Given the description of an element on the screen output the (x, y) to click on. 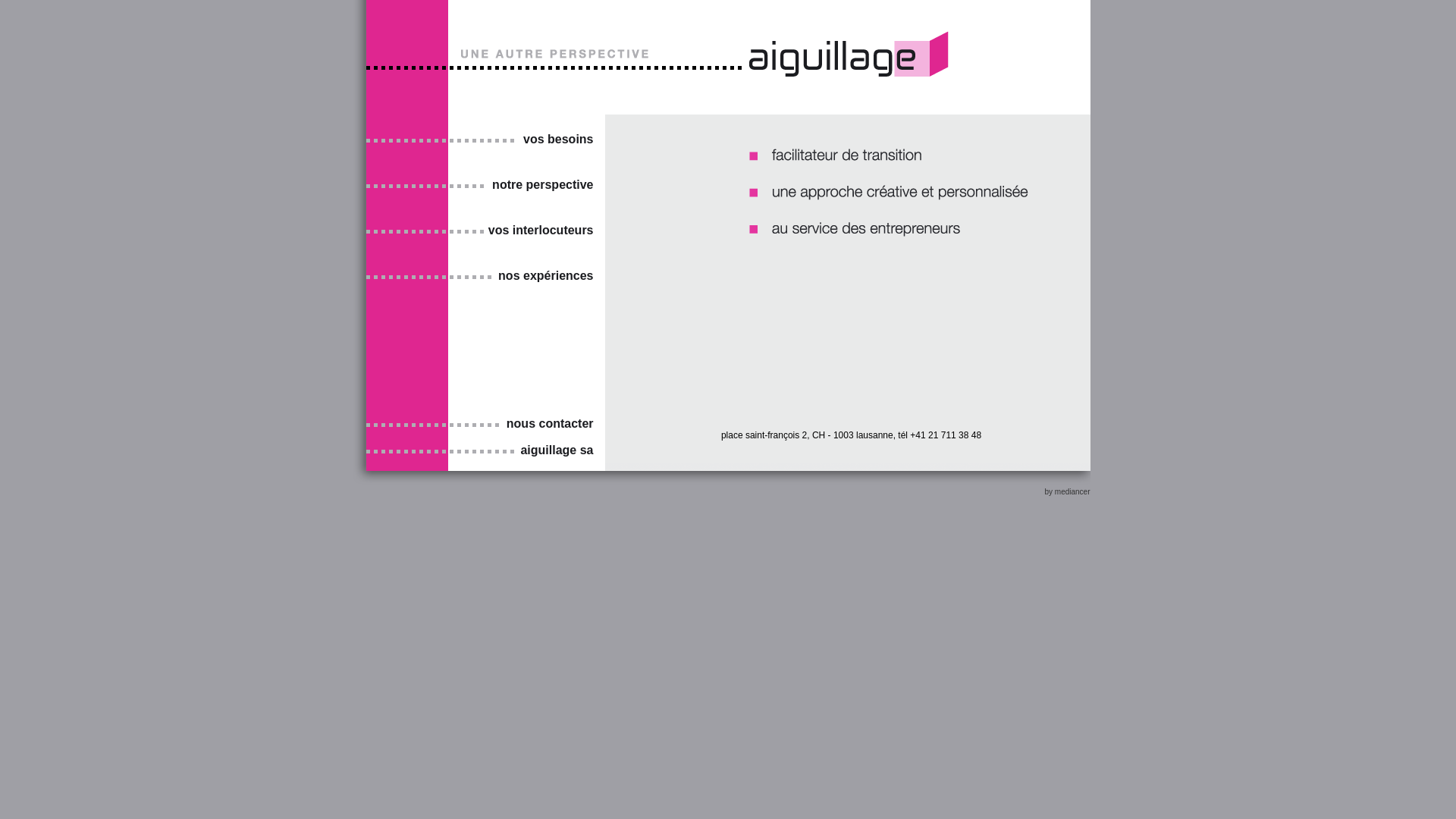
vos interlocuteurs Element type: text (539, 230)
aiguillage sa Element type: text (553, 450)
vos besoins Element type: text (554, 139)
notre perspective Element type: text (539, 184)
nous contacter Element type: text (547, 423)
by mediancer Element type: text (1066, 491)
